Given the description of an element on the screen output the (x, y) to click on. 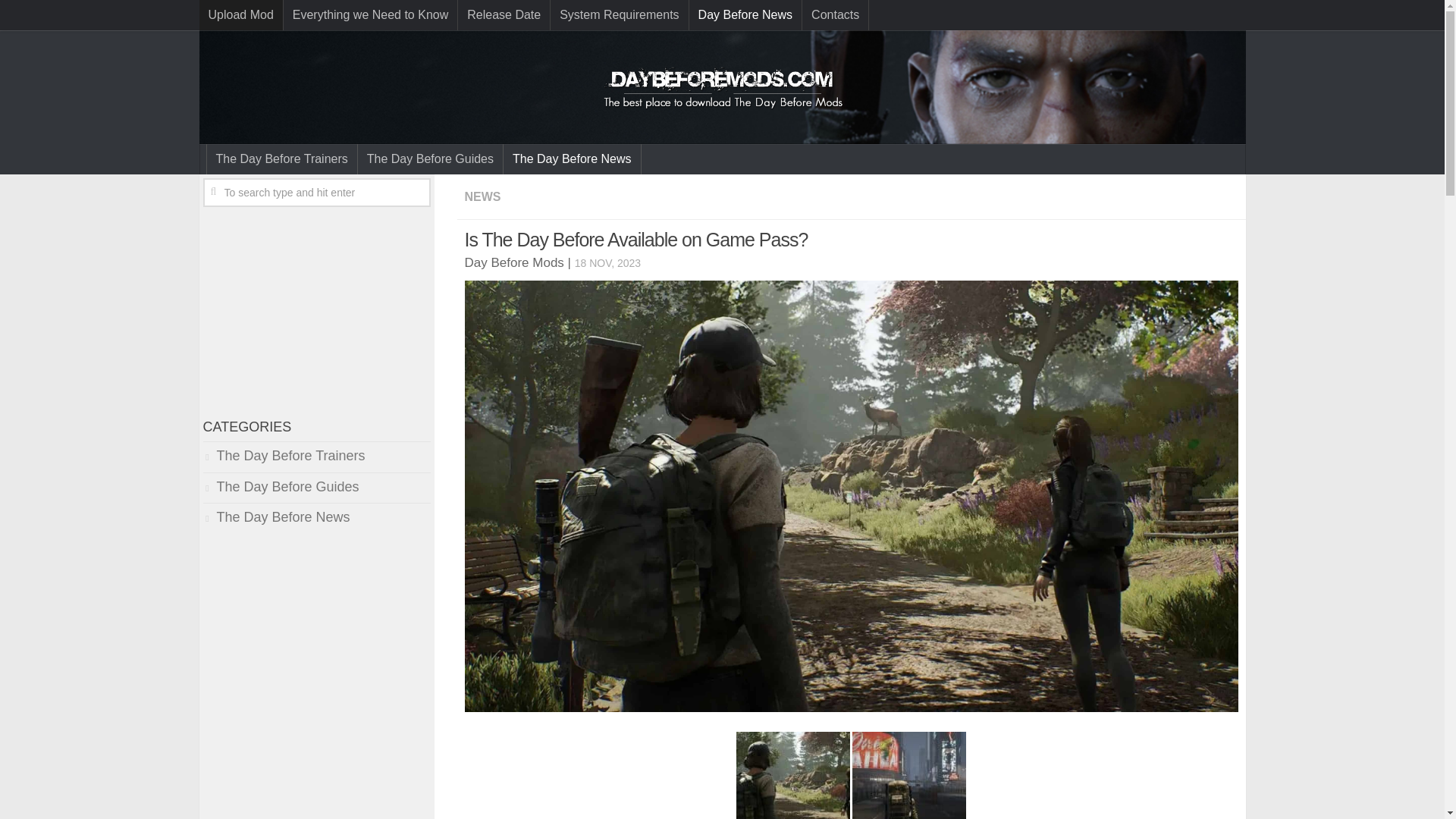
Day Before Mods (513, 261)
To search type and hit enter (316, 192)
Day Before News (745, 15)
Contacts (834, 15)
Upload Mod (240, 15)
Release Date (504, 15)
To search type and hit enter (316, 192)
The Day Before Guides (430, 159)
The Day Before Trainers (316, 456)
Starfield Mods (722, 89)
